Given the description of an element on the screen output the (x, y) to click on. 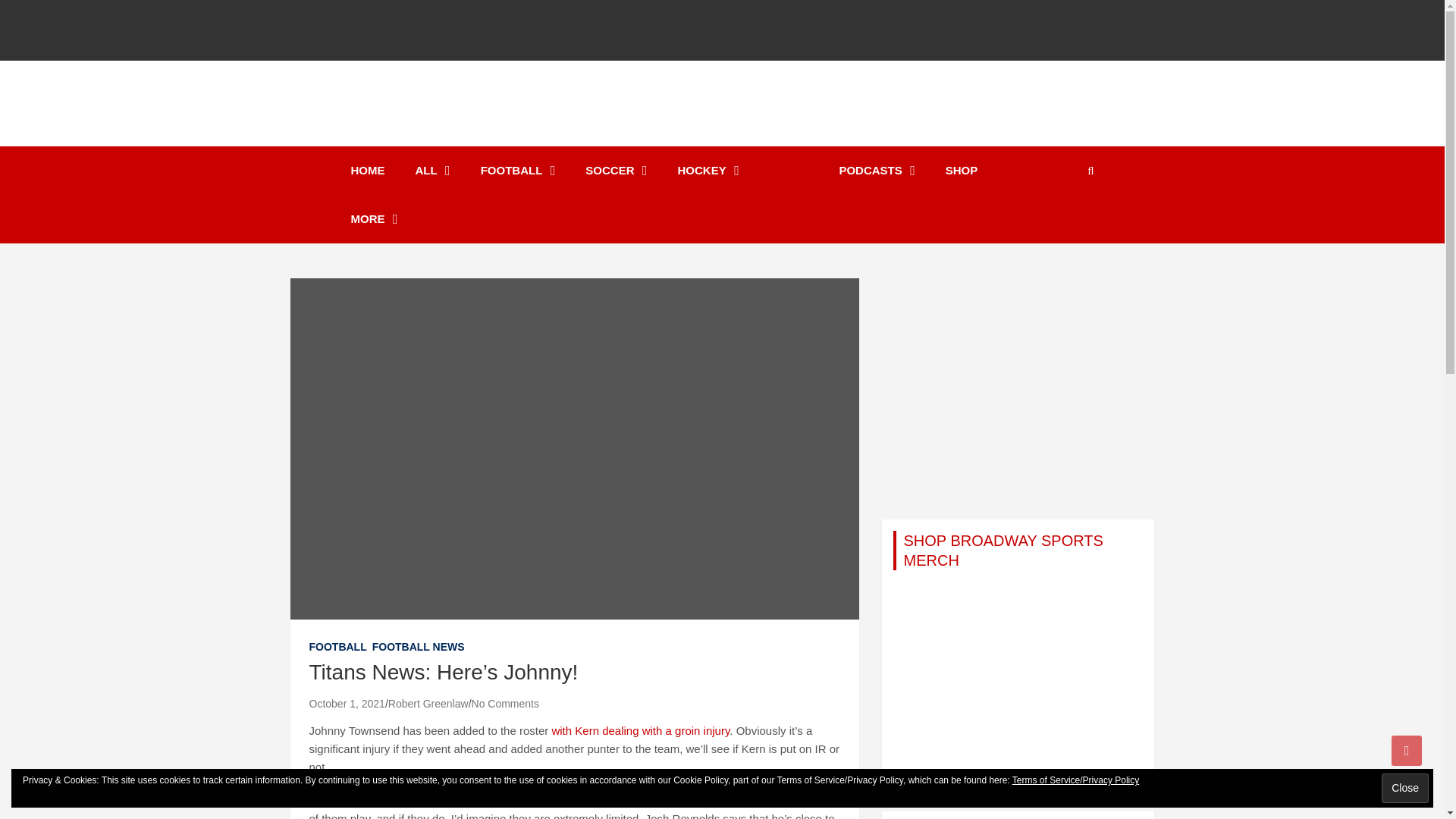
ALL (432, 170)
Go to Top (1406, 750)
HOME (366, 170)
Close (1404, 788)
FOOTBALL (517, 170)
